Given the description of an element on the screen output the (x, y) to click on. 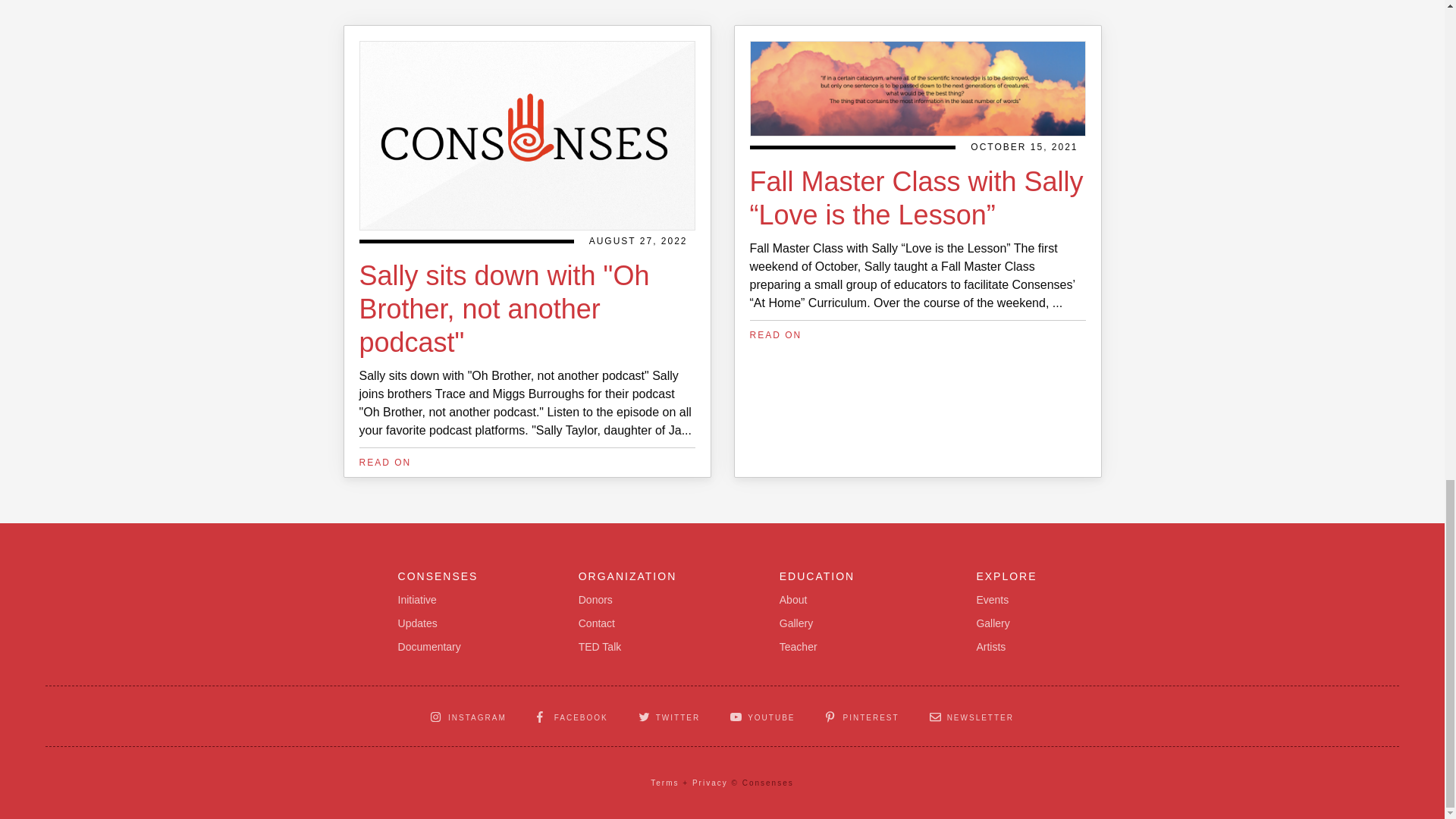
Contact (596, 623)
Updates (417, 623)
Documentary (429, 647)
Initiative (416, 600)
Teacher (797, 647)
Gallery (795, 623)
Donors (595, 600)
About (793, 600)
TED Talk (599, 647)
